Given the description of an element on the screen output the (x, y) to click on. 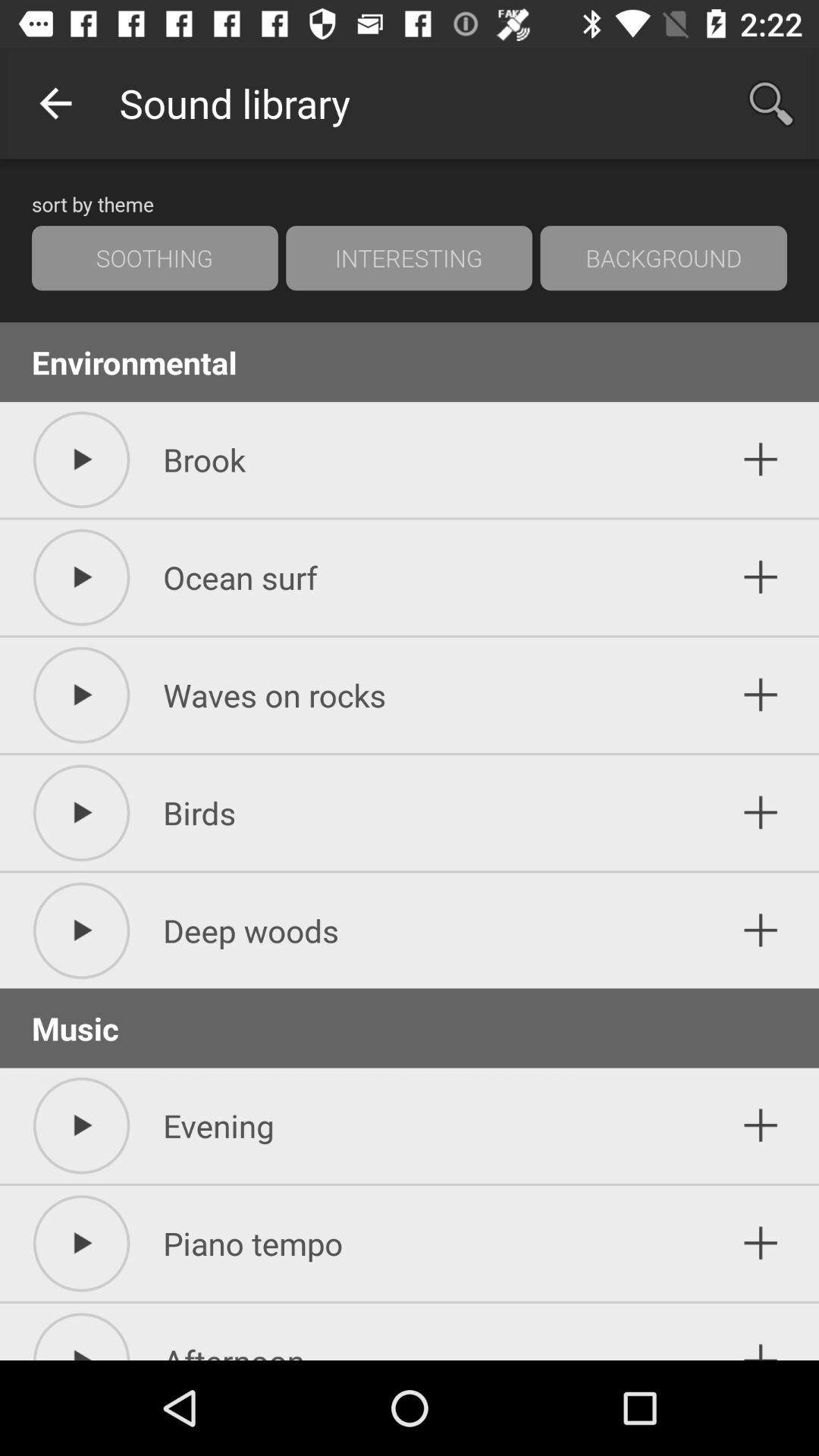
add waves on rocks to your sound library (761, 695)
